Given the description of an element on the screen output the (x, y) to click on. 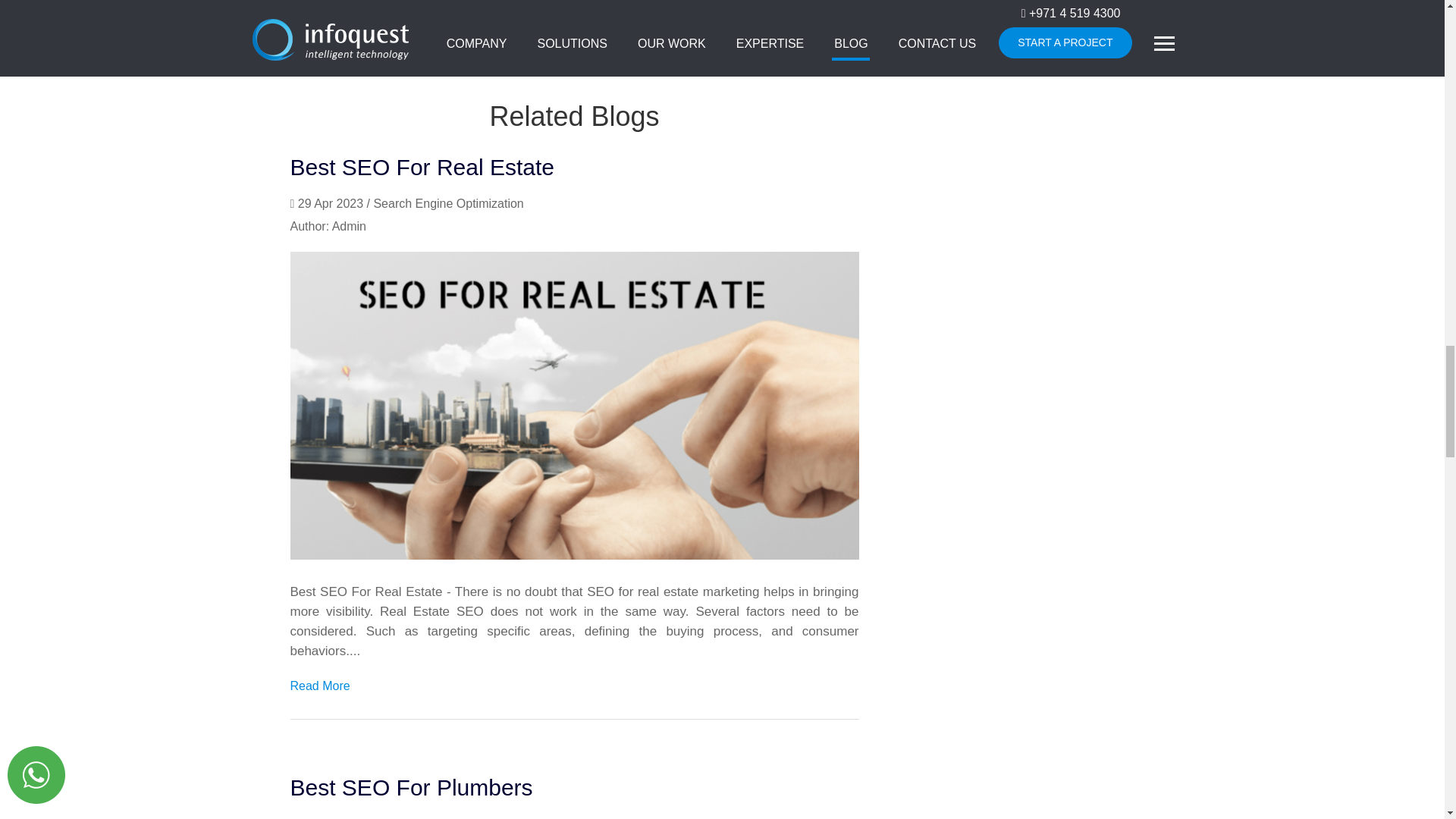
Next (832, 4)
Previous (332, 3)
